Given the description of an element on the screen output the (x, y) to click on. 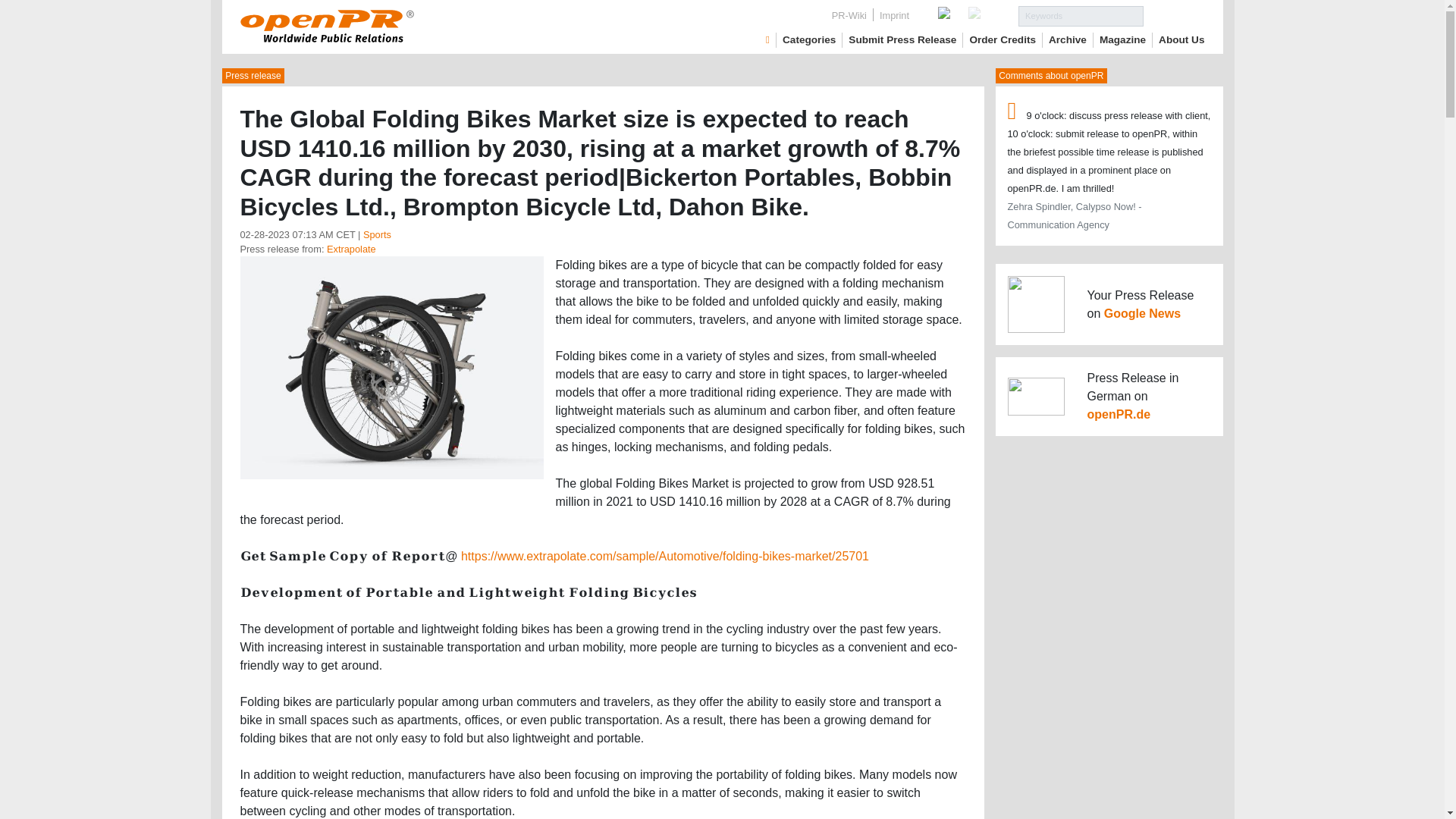
About Us (1181, 39)
Sports (376, 234)
Magazine (1122, 39)
Extrapolate (350, 248)
Imprint (894, 15)
PR-Wiki (848, 15)
Categories (809, 39)
Archive (1067, 39)
archive und pressrelease of Extrapolate (350, 248)
